Given the description of an element on the screen output the (x, y) to click on. 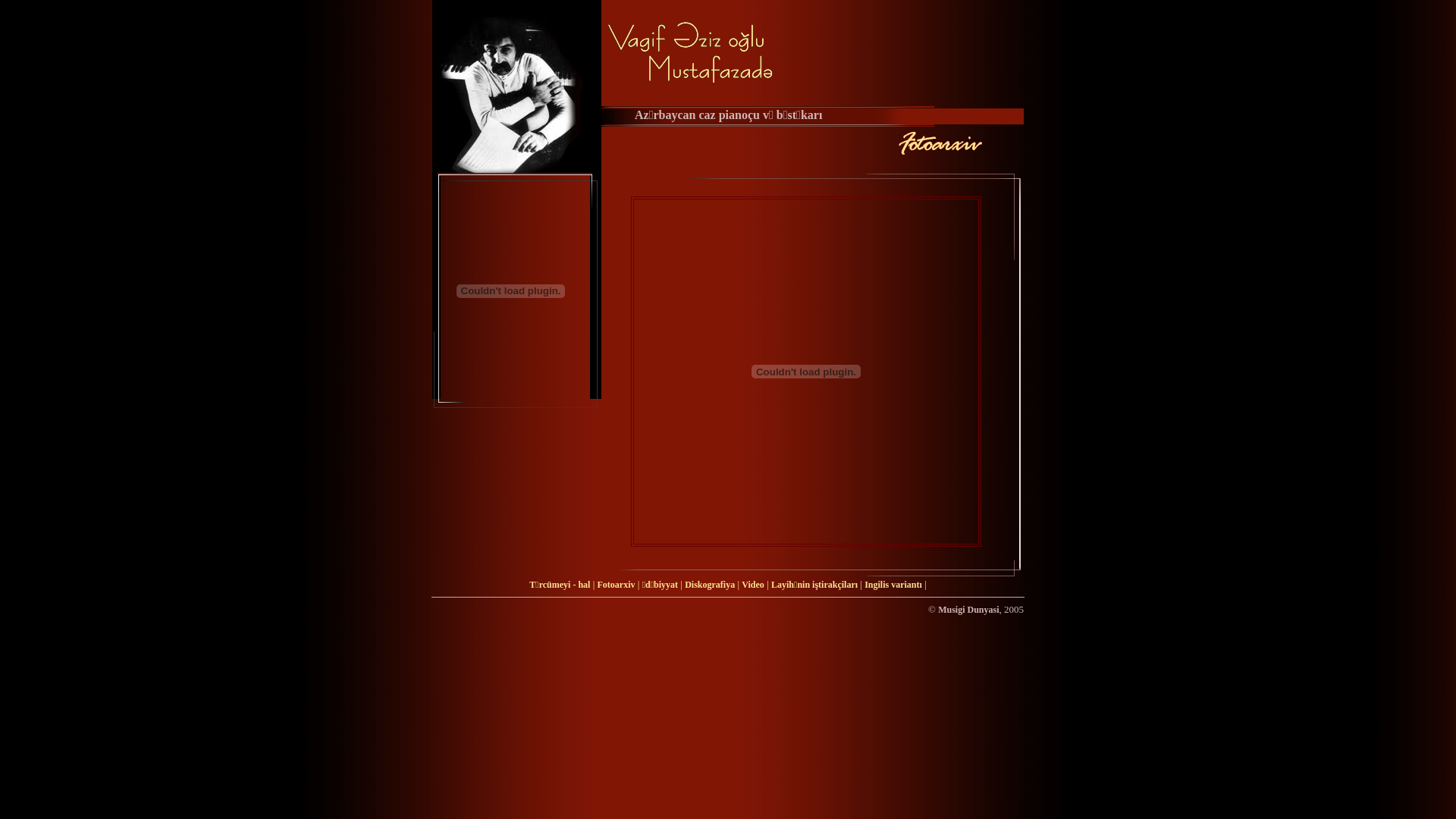
Fotoarxiv Element type: text (616, 584)
Diskografiya Element type: text (709, 584)
Video Element type: text (752, 584)
Musigi Dunyasi Element type: text (968, 609)
